Given the description of an element on the screen output the (x, y) to click on. 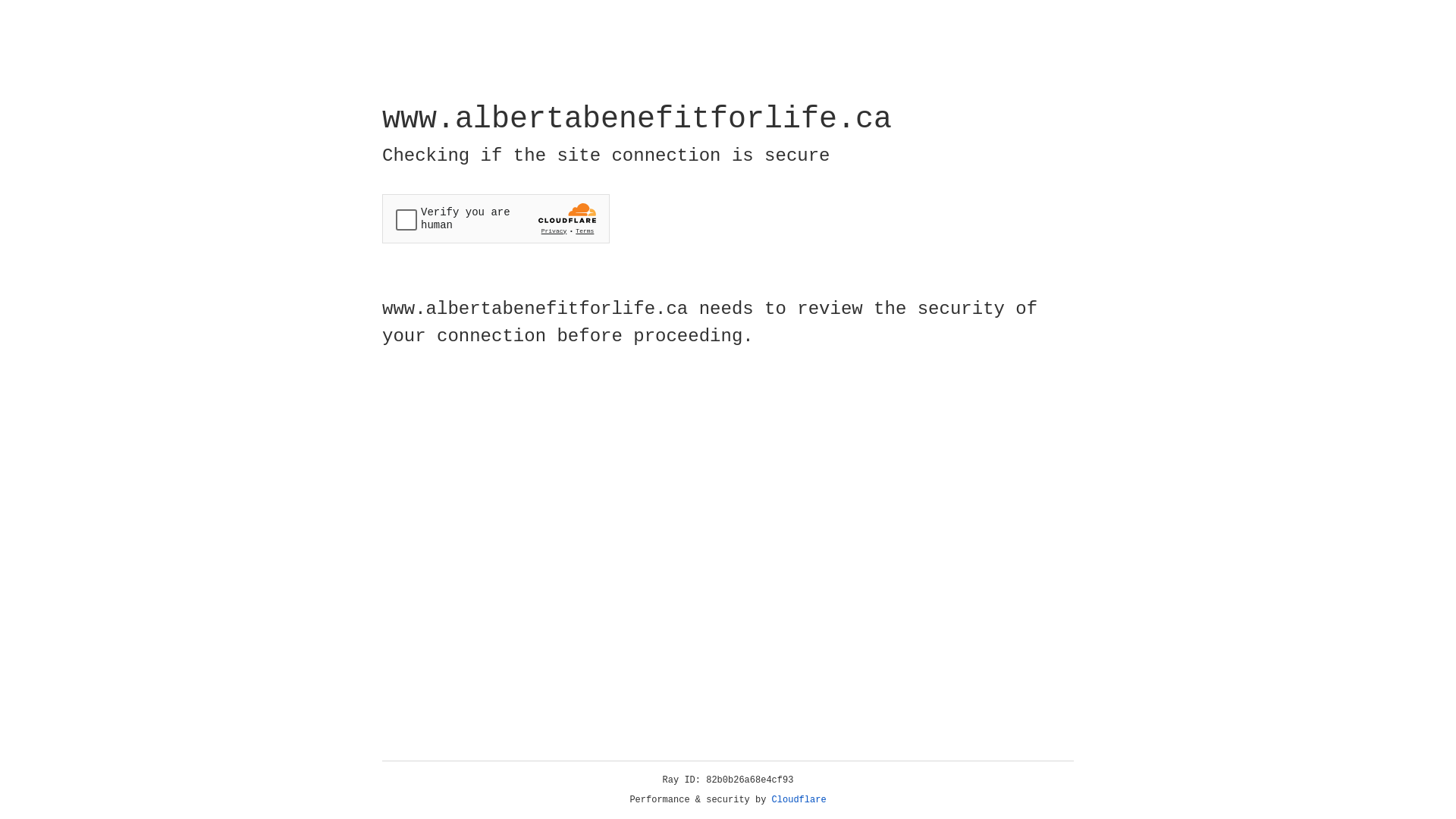
Widget containing a Cloudflare security challenge Element type: hover (495, 218)
Cloudflare Element type: text (798, 799)
